Given the description of an element on the screen output the (x, y) to click on. 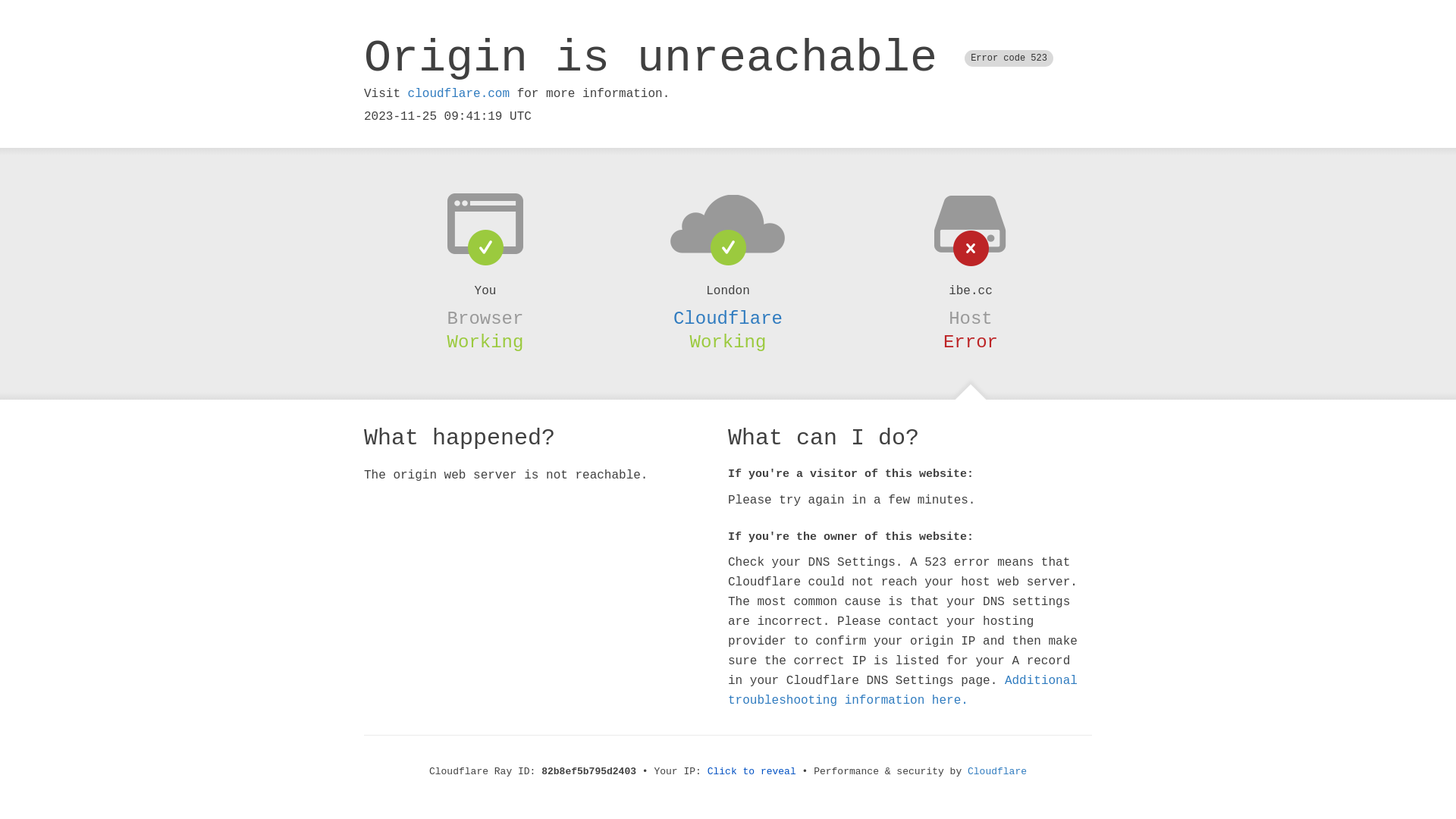
Cloudflare Element type: text (996, 771)
Click to reveal Element type: text (751, 771)
cloudflare.com Element type: text (458, 93)
Additional troubleshooting information here. Element type: text (902, 690)
Cloudflare Element type: text (727, 318)
